Given the description of an element on the screen output the (x, y) to click on. 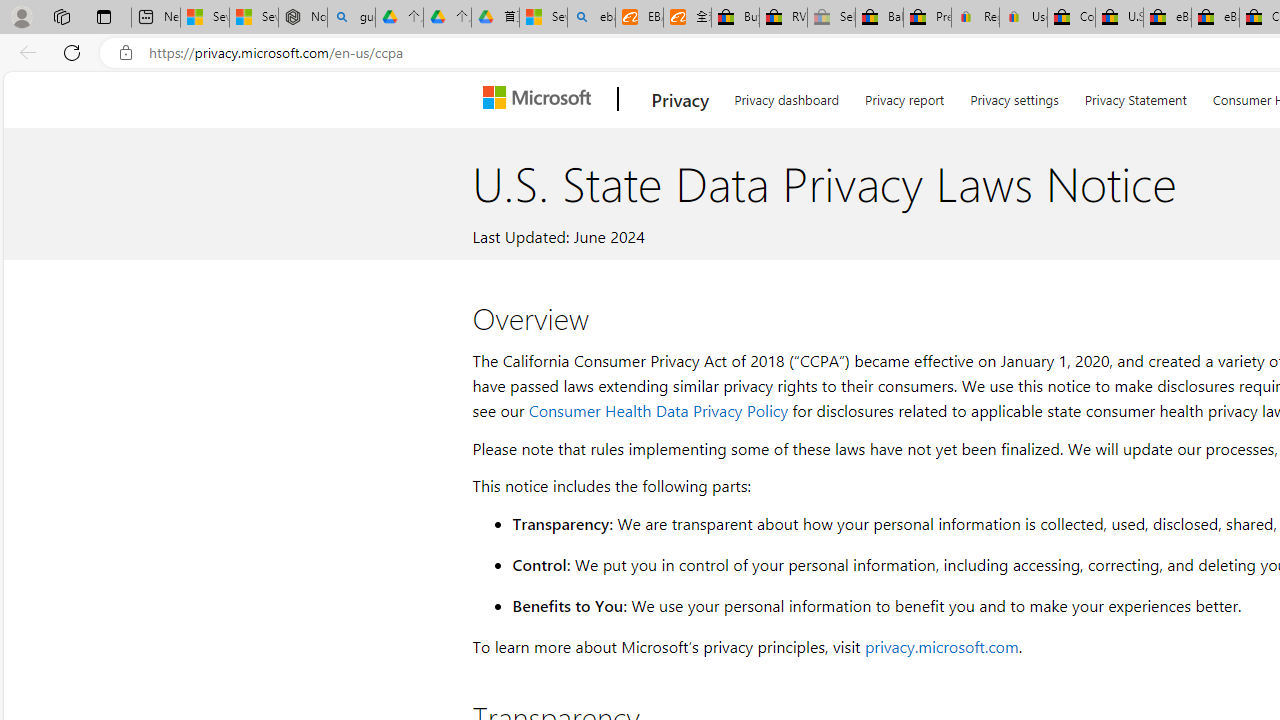
Privacy dashboard (786, 96)
Privacy settings (1014, 96)
Register: Create a personal eBay account (975, 17)
Microsoft (541, 99)
guge yunpan - Search (351, 17)
privacy.microsoft.com (941, 645)
Privacy Statement (1135, 96)
Consumer Health Data Privacy Policy (657, 410)
